Given the description of an element on the screen output the (x, y) to click on. 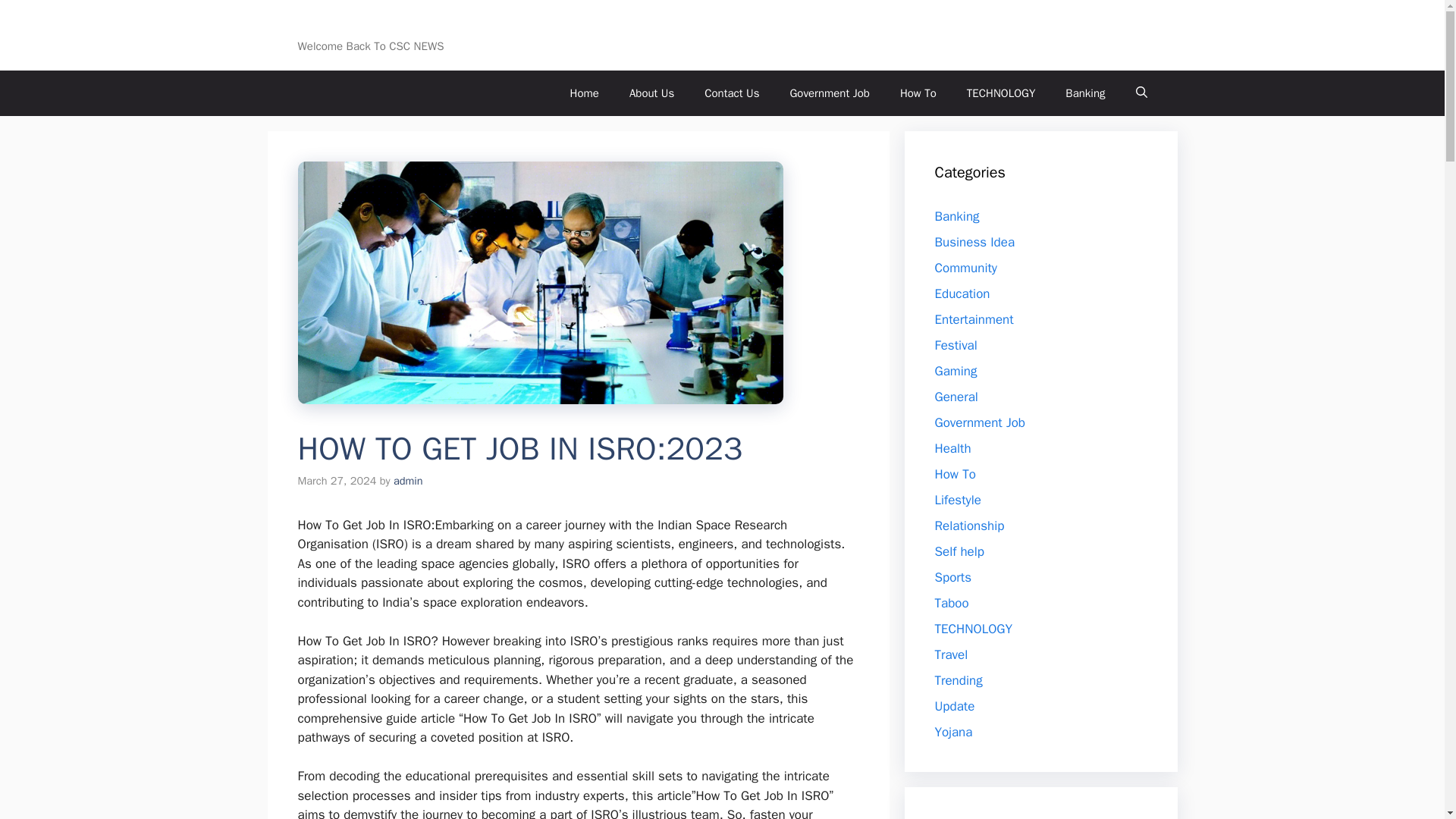
Government Job (979, 421)
Health (952, 447)
Business Idea (974, 241)
Education (962, 293)
Festival (955, 344)
admin (408, 480)
How To (918, 92)
Sports (952, 576)
TECHNOLOGY (972, 627)
Lifestyle (956, 498)
